Given the description of an element on the screen output the (x, y) to click on. 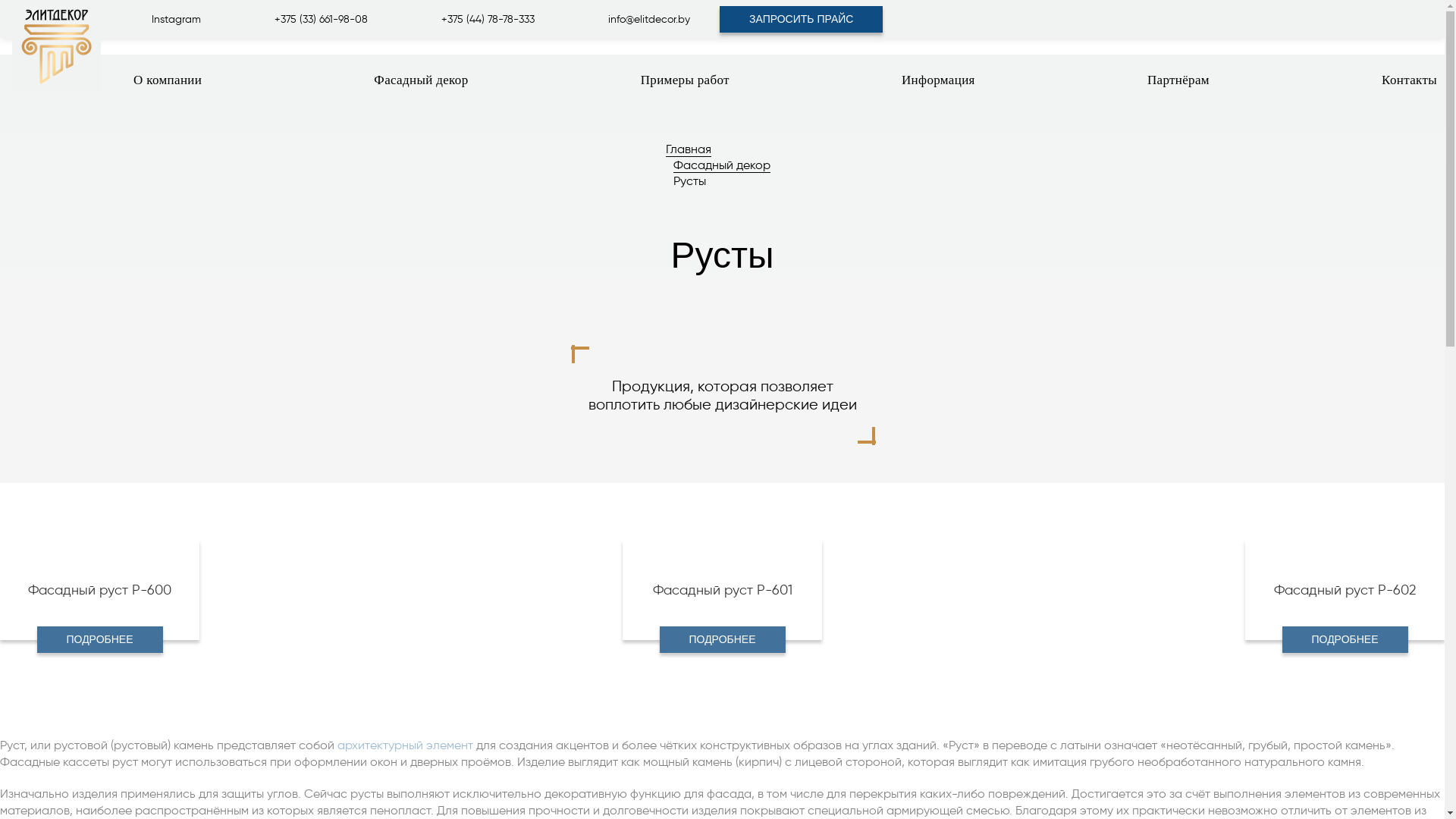
+375 (44) 78-78-333 Element type: text (503, 18)
+375 (33) 661-98-08 Element type: text (336, 18)
Instagram Element type: text (191, 18)
info@elitdecor.by Element type: text (652, 18)
